Given the description of an element on the screen output the (x, y) to click on. 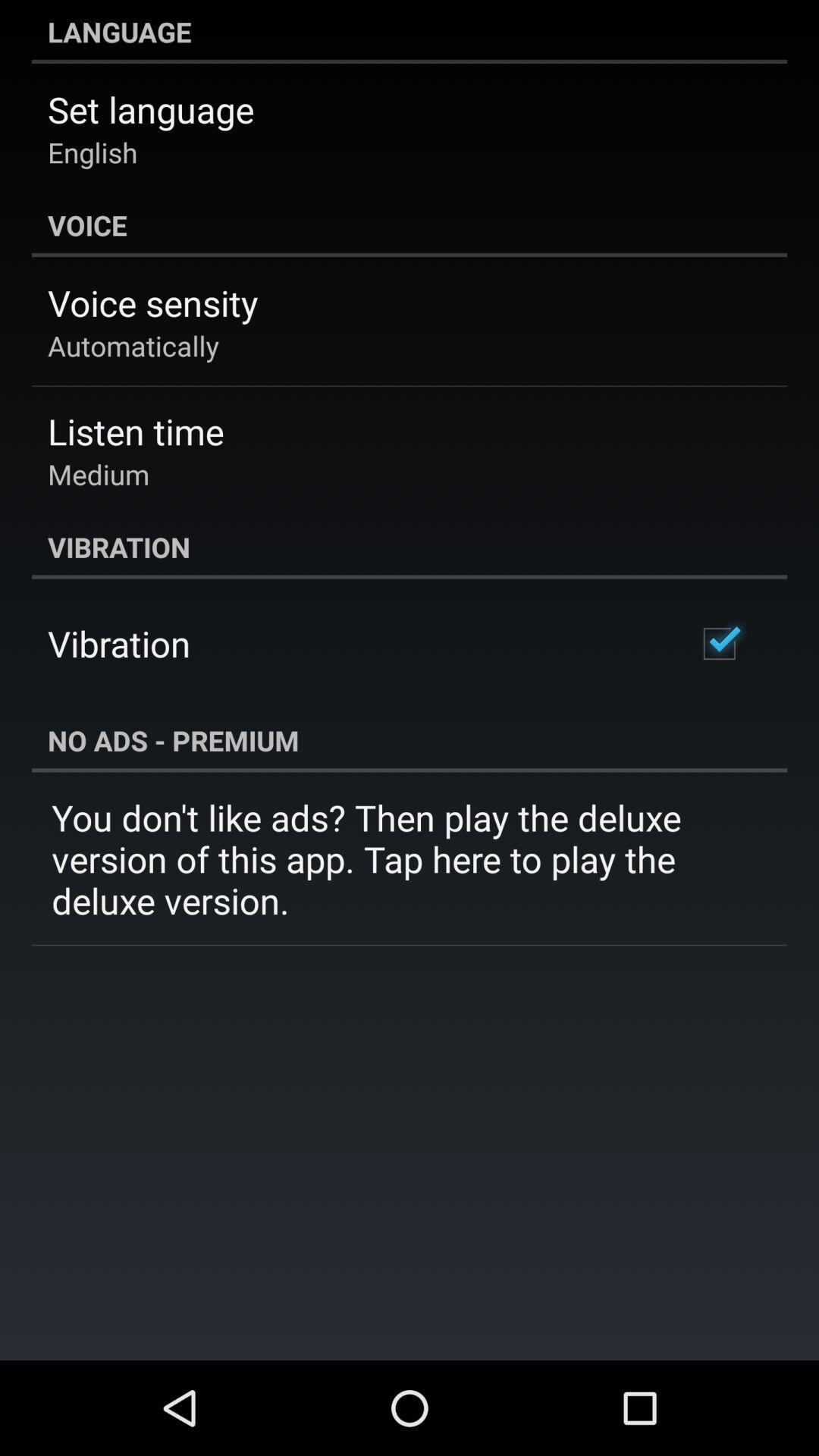
open icon above the voice (92, 152)
